Given the description of an element on the screen output the (x, y) to click on. 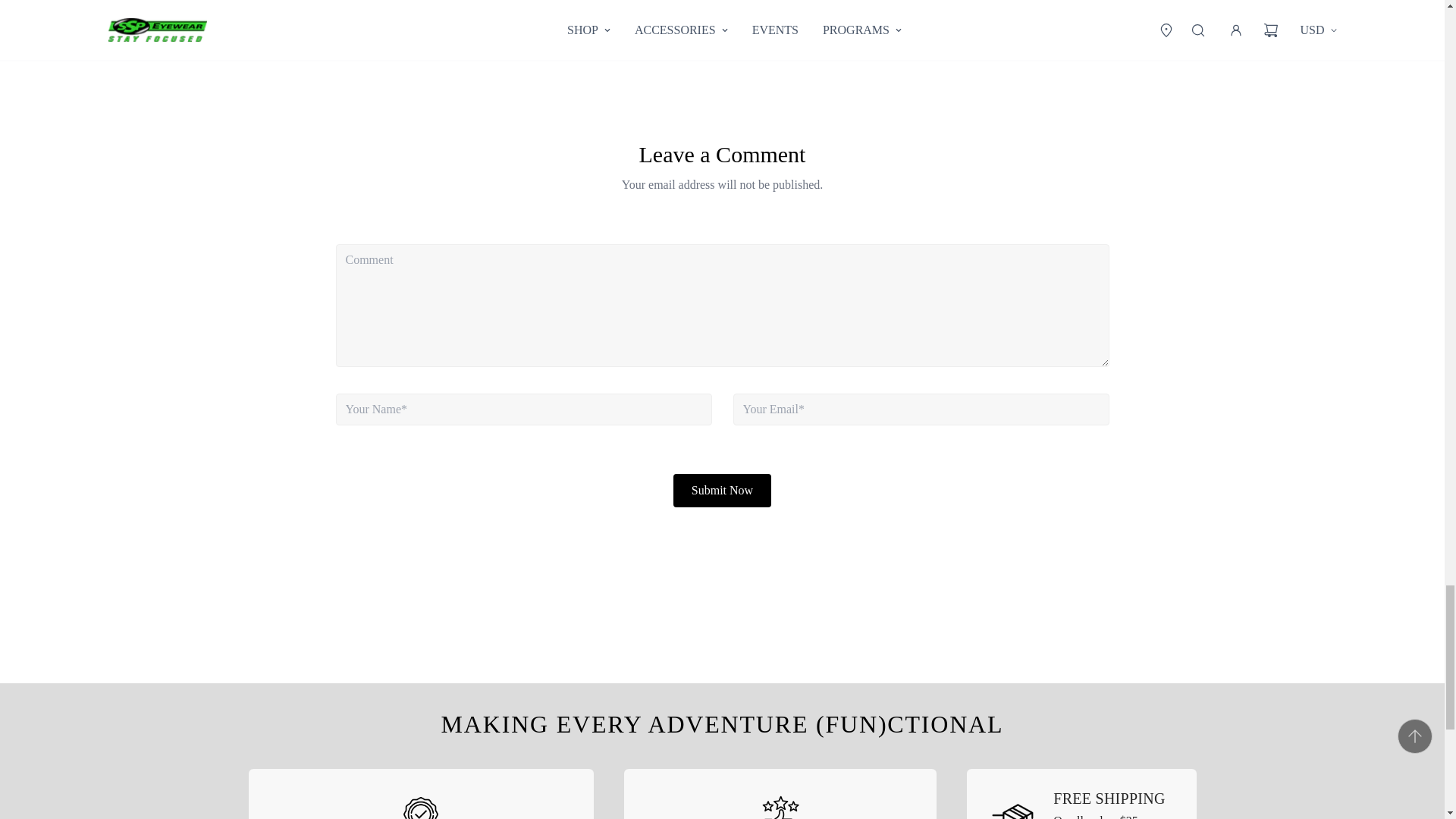
Submit Now (721, 490)
